Given the description of an element on the screen output the (x, y) to click on. 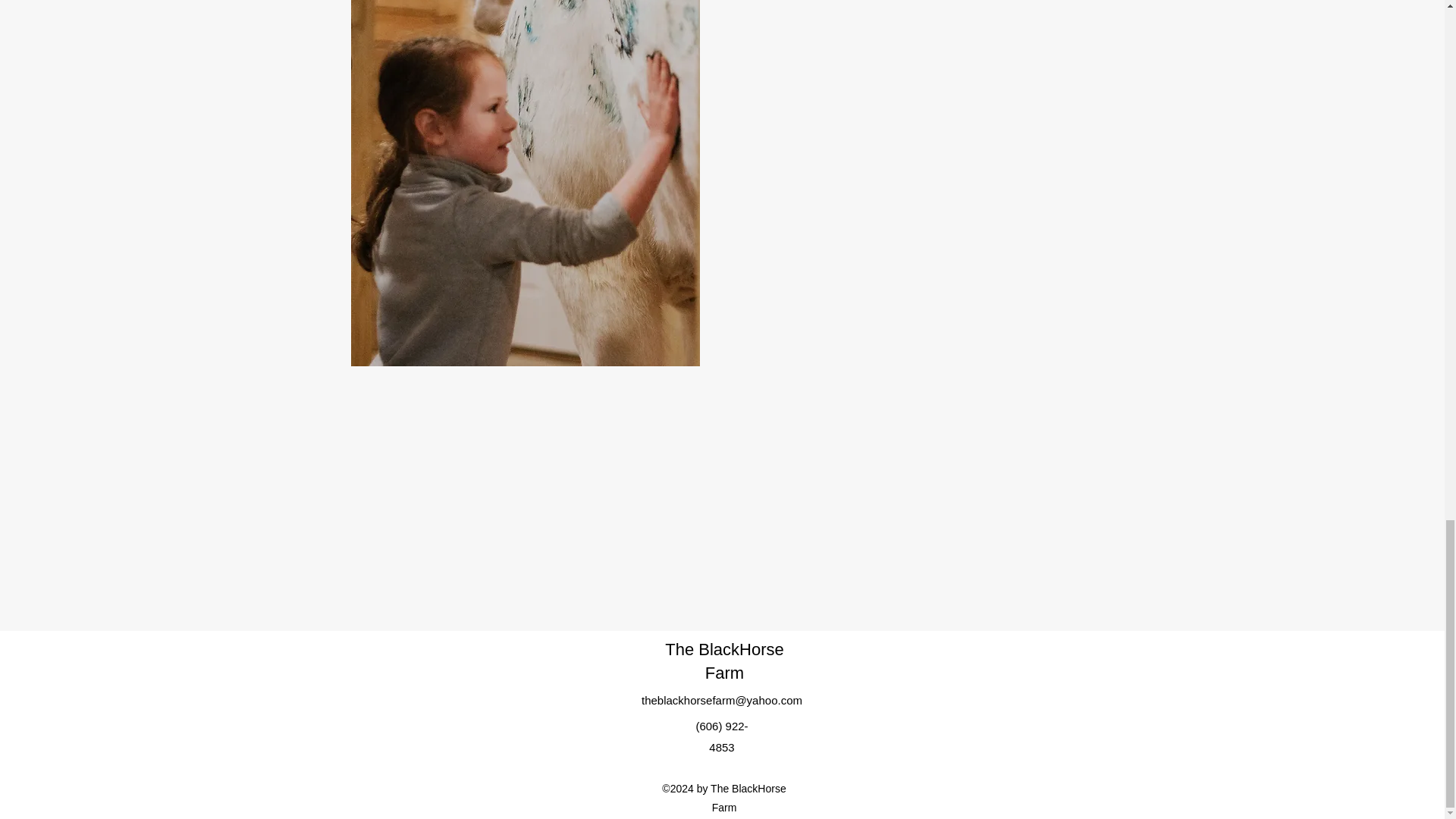
The BlackHorse Farm (724, 660)
